Given the description of an element on the screen output the (x, y) to click on. 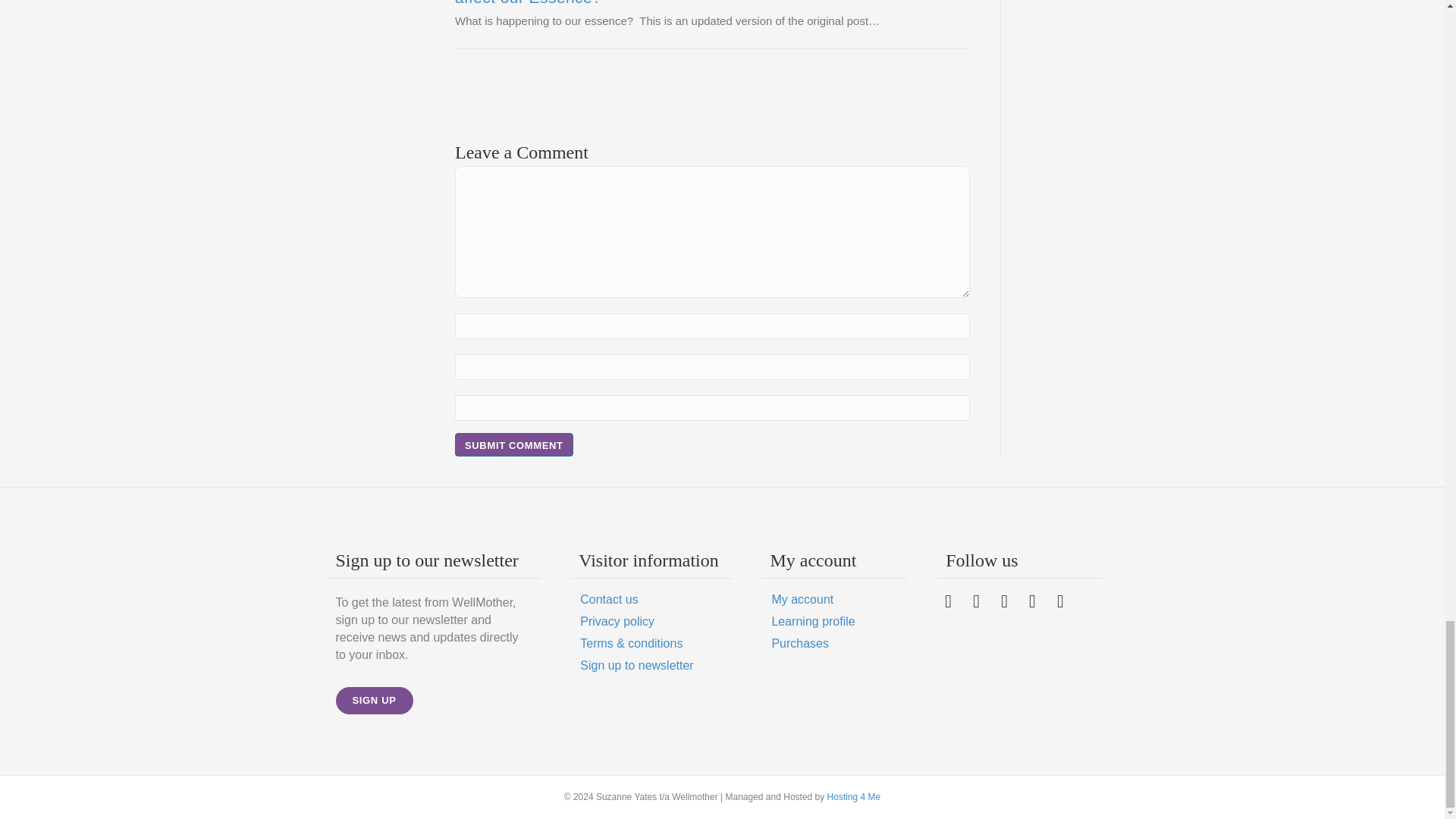
Hosting 4 Me (853, 796)
Submit Comment (513, 445)
